Given the description of an element on the screen output the (x, y) to click on. 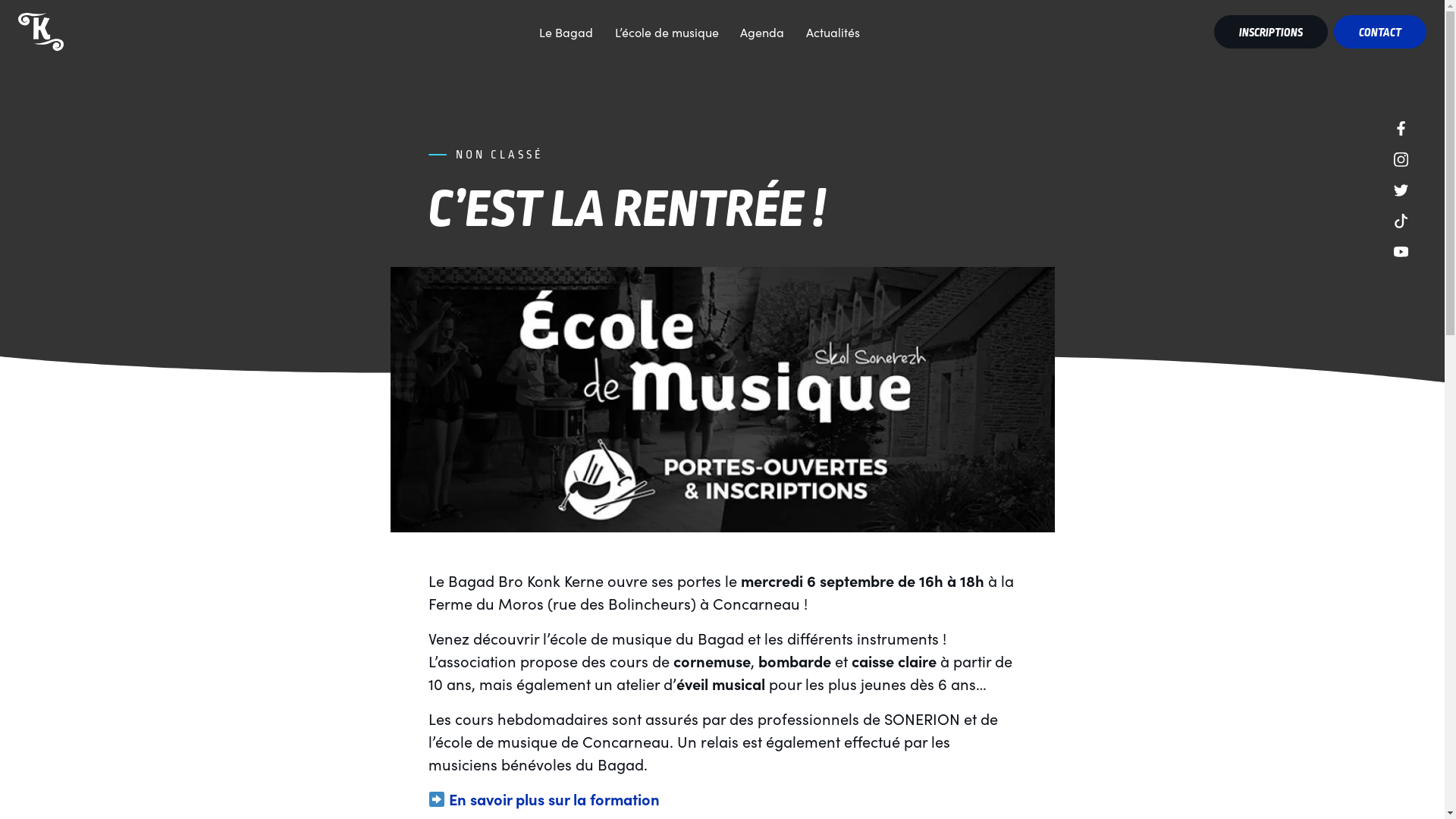
Twitter Element type: hover (1400, 187)
Le Bagad Element type: text (565, 31)
YouTube Element type: hover (1400, 249)
CONTACT Element type: text (1379, 31)
Facebook Element type: hover (1400, 125)
En savoir plus sur la formation Element type: text (553, 798)
INSCRIPTIONS Element type: text (1270, 31)
Agenda Element type: text (762, 31)
TikTok Element type: hover (1400, 218)
Bagad Bro Konk Kerne - Concarneau Element type: hover (40, 31)
Instagram Element type: hover (1400, 156)
